Given the description of an element on the screen output the (x, y) to click on. 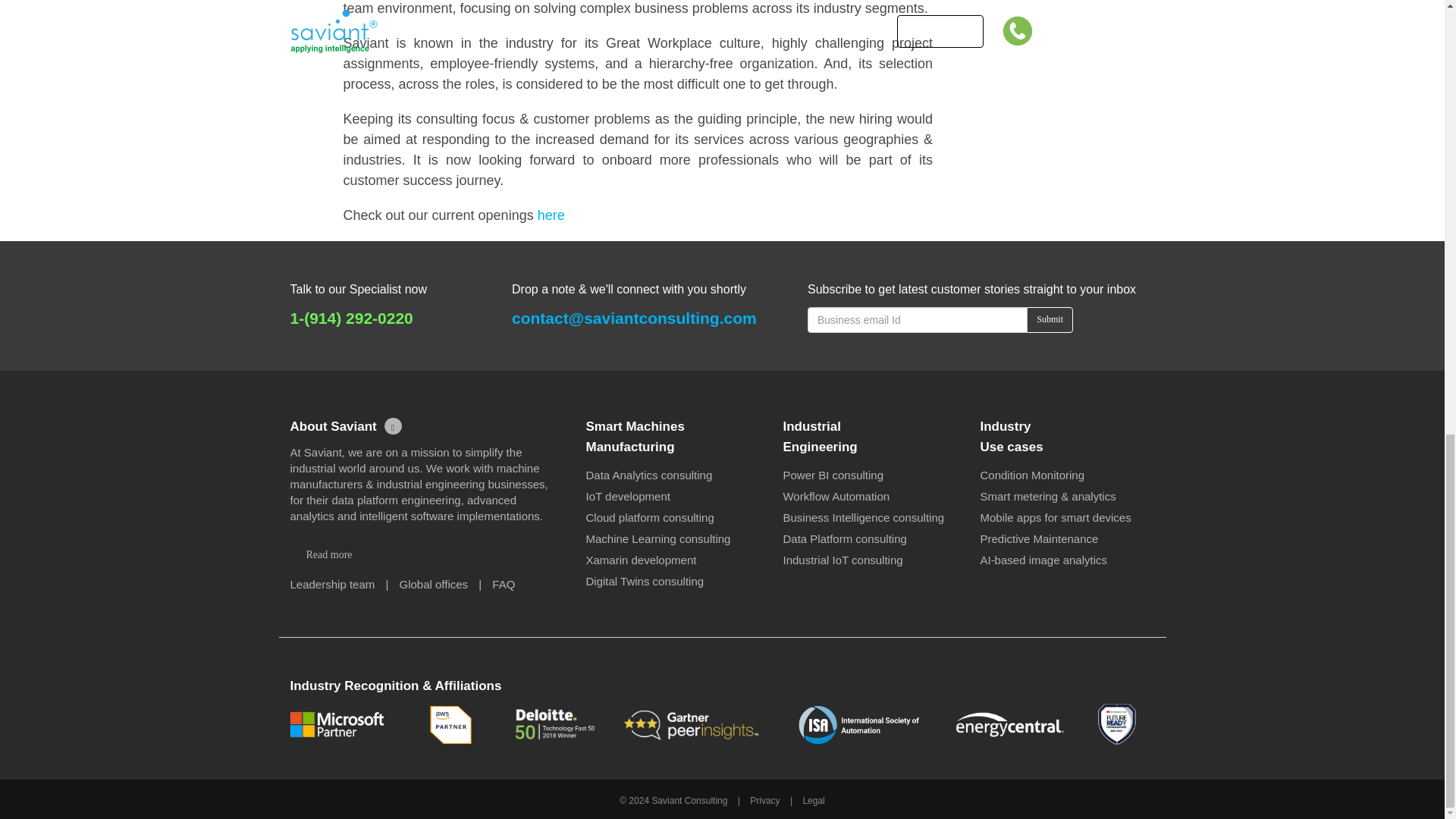
Submit (1049, 319)
here (550, 215)
